Given the description of an element on the screen output the (x, y) to click on. 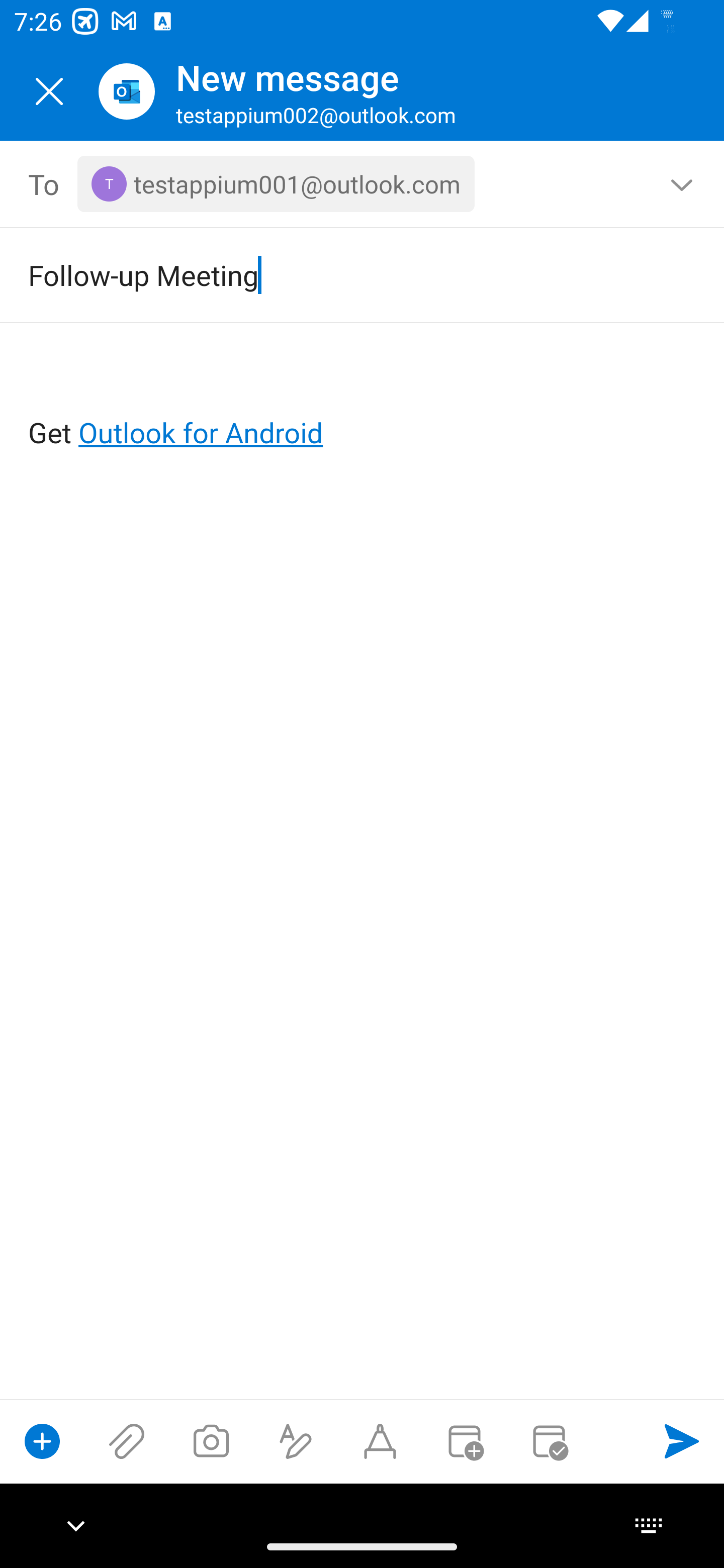
Close (49, 91)
To, 1 recipient <testappium001@outlook.com> (362, 184)
Follow-up Meeting (333, 274)


Get Outlook for Android (363, 400)
Show compose options (42, 1440)
Attach files (126, 1440)
Take a photo (210, 1440)
Show formatting options (295, 1440)
Start Ink compose (380, 1440)
Convert to event (464, 1440)
Send availability (548, 1440)
Send (681, 1440)
